Given the description of an element on the screen output the (x, y) to click on. 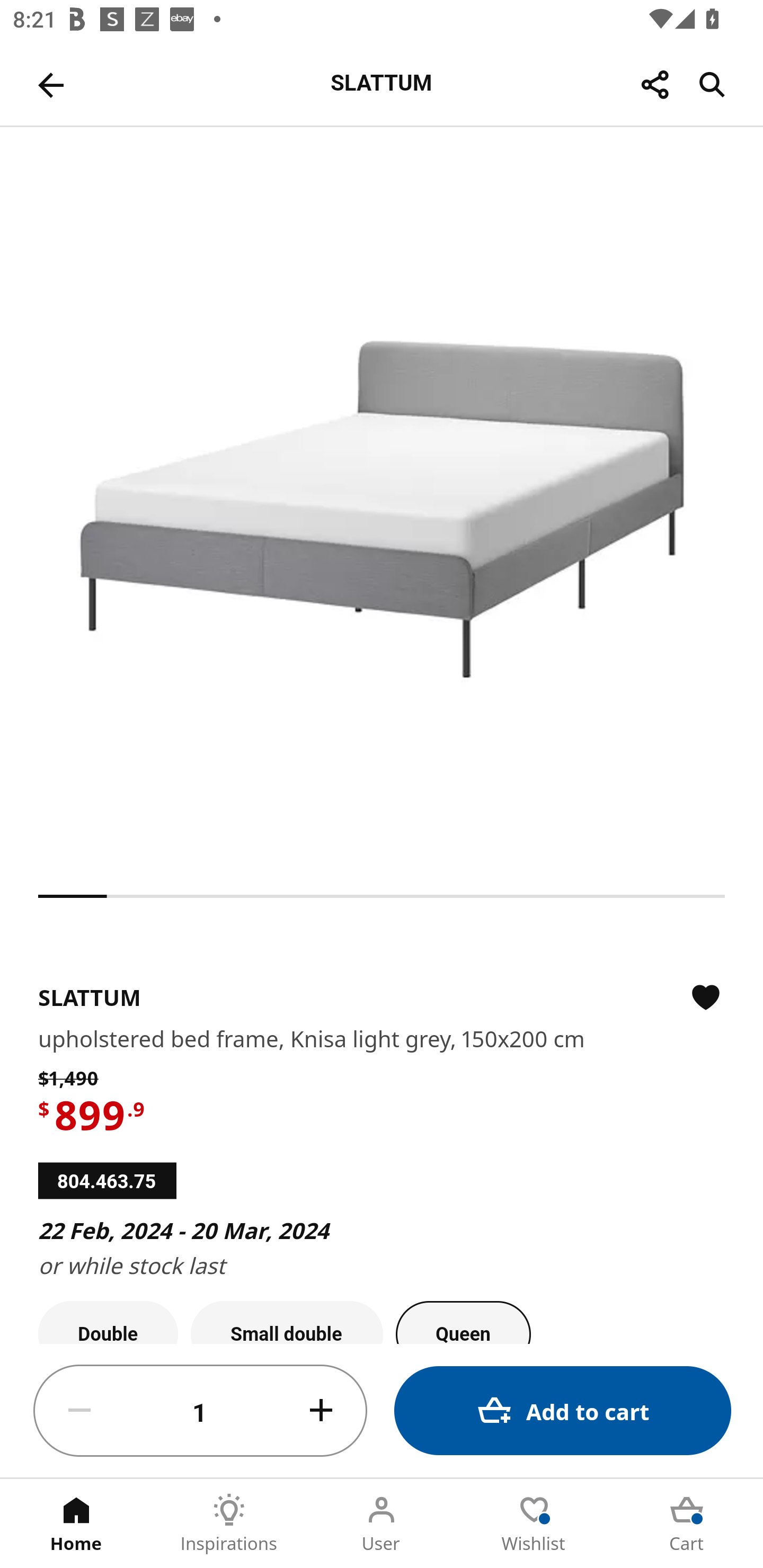
Double (107, 1322)
Small double (286, 1322)
Queen (463, 1322)
Add to cart (562, 1410)
1 (200, 1411)
Home
Tab 1 of 5 (76, 1522)
Inspirations
Tab 2 of 5 (228, 1522)
User
Tab 3 of 5 (381, 1522)
Wishlist
Tab 4 of 5 (533, 1522)
Cart
Tab 5 of 5 (686, 1522)
